Given the description of an element on the screen output the (x, y) to click on. 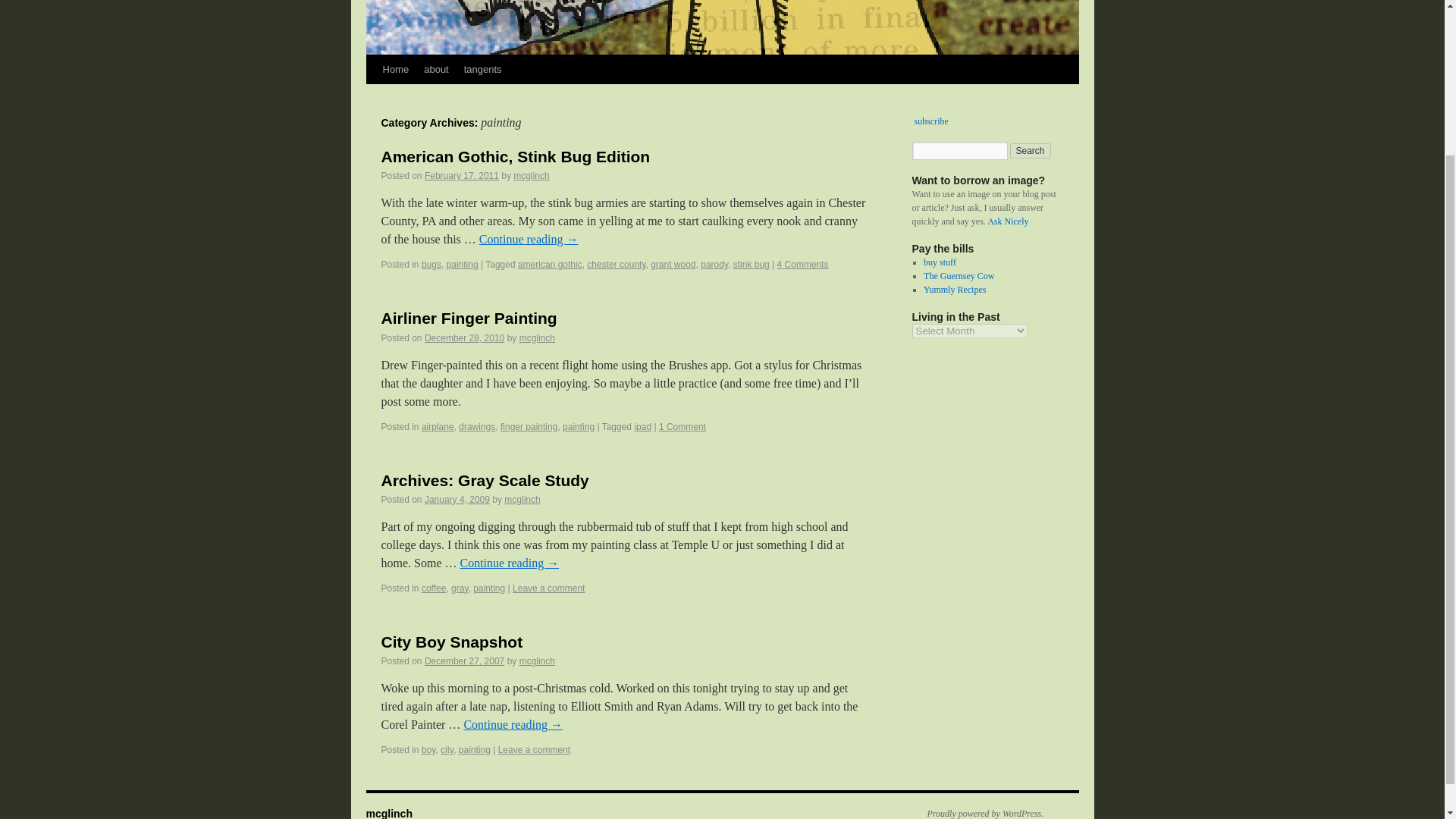
mcglinch (536, 661)
tangents (483, 69)
10:59 pm (464, 337)
mcglinch (521, 499)
Search (1030, 150)
4 Comments (802, 264)
3:06 am (464, 661)
December 28, 2010 (464, 337)
Leave a comment (548, 588)
ipad (641, 426)
